Given the description of an element on the screen output the (x, y) to click on. 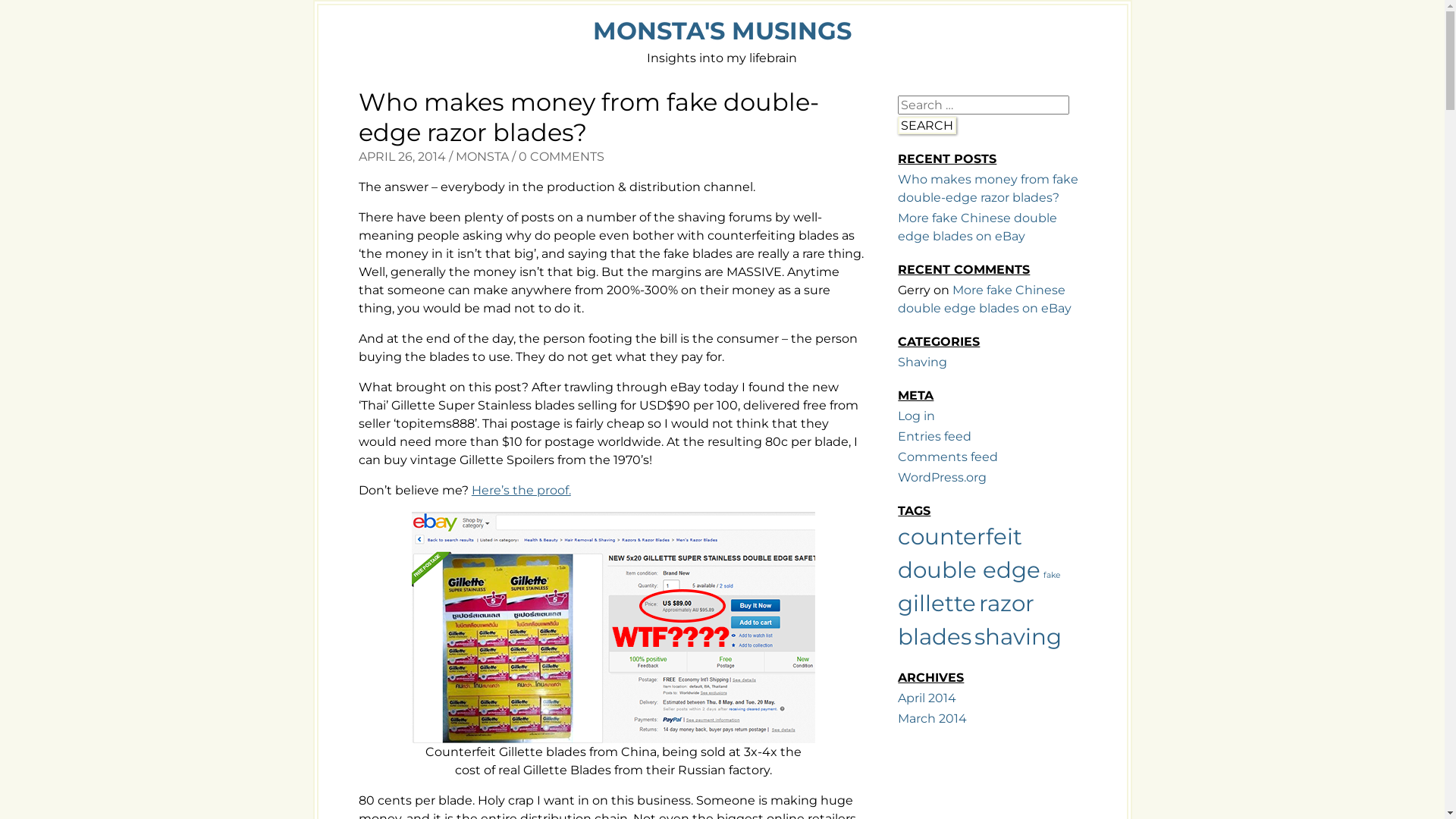
Who makes money from fake double-edge razor blades? Element type: text (588, 117)
Shaving Element type: text (922, 361)
Comments feed Element type: text (947, 456)
More fake Chinese double edge blades on eBay Element type: text (977, 226)
April 2014 Element type: text (926, 697)
Who makes money from fake double-edge razor blades? Element type: text (987, 188)
Entries feed Element type: text (934, 436)
Search Element type: text (926, 125)
fake Element type: text (1051, 575)
APRIL 26, 2014 Element type: text (401, 156)
counterfeit Element type: text (959, 536)
WordPress.org Element type: text (941, 477)
double edge Element type: text (968, 569)
MONSTA'S MUSINGS Element type: text (722, 30)
Log in Element type: text (916, 415)
March 2014 Element type: text (931, 718)
0 COMMENTS Element type: text (561, 156)
razor blades Element type: text (965, 619)
MONSTA Element type: text (481, 156)
shaving Element type: text (1017, 636)
gillette Element type: text (936, 602)
More fake Chinese double edge blades on eBay Element type: text (984, 298)
